Given the description of an element on the screen output the (x, y) to click on. 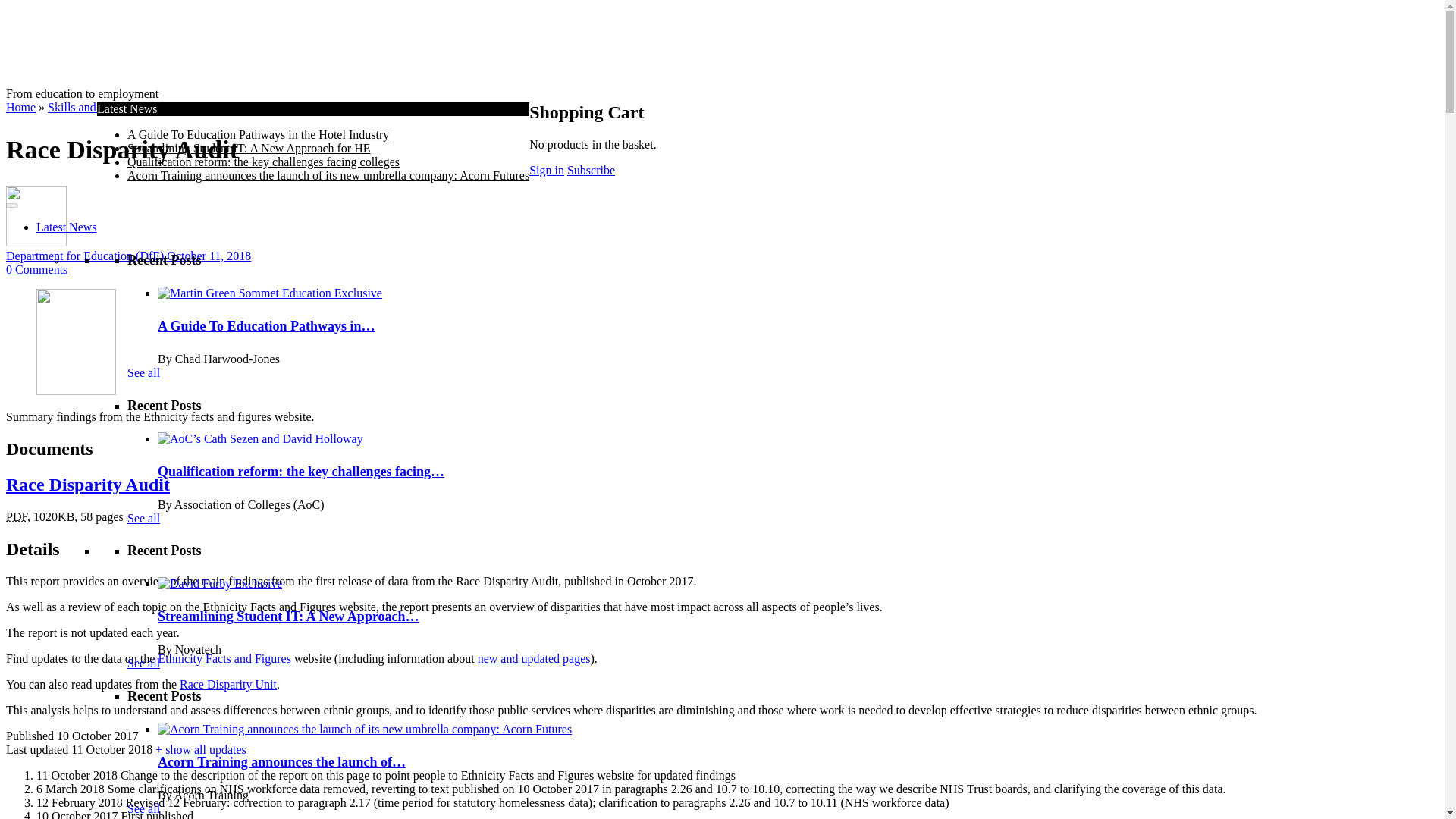
See all (144, 662)
Permalink to Streamlining Student IT: A New Approach for HE (219, 583)
Latest News (66, 226)
Sign in (546, 169)
Qualification reform: the key challenges facing colleges (263, 161)
See all (144, 517)
Subscribe (590, 169)
See all (144, 372)
Streamlining Student IT: A New Approach for HE (248, 147)
